Given the description of an element on the screen output the (x, y) to click on. 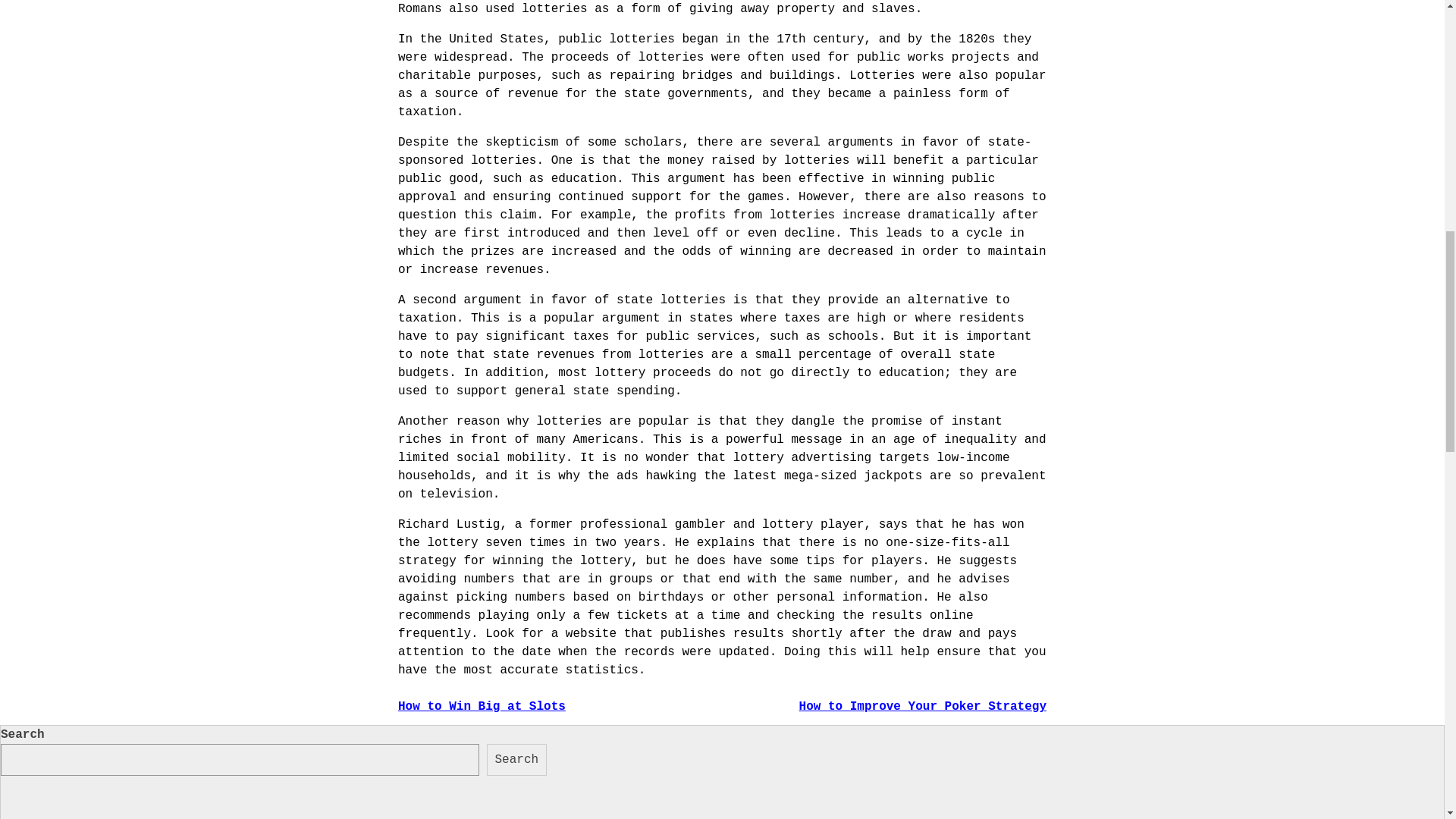
Search (516, 759)
How to Win Big at Slots (481, 706)
How to Improve Your Poker Strategy (922, 706)
